Given the description of an element on the screen output the (x, y) to click on. 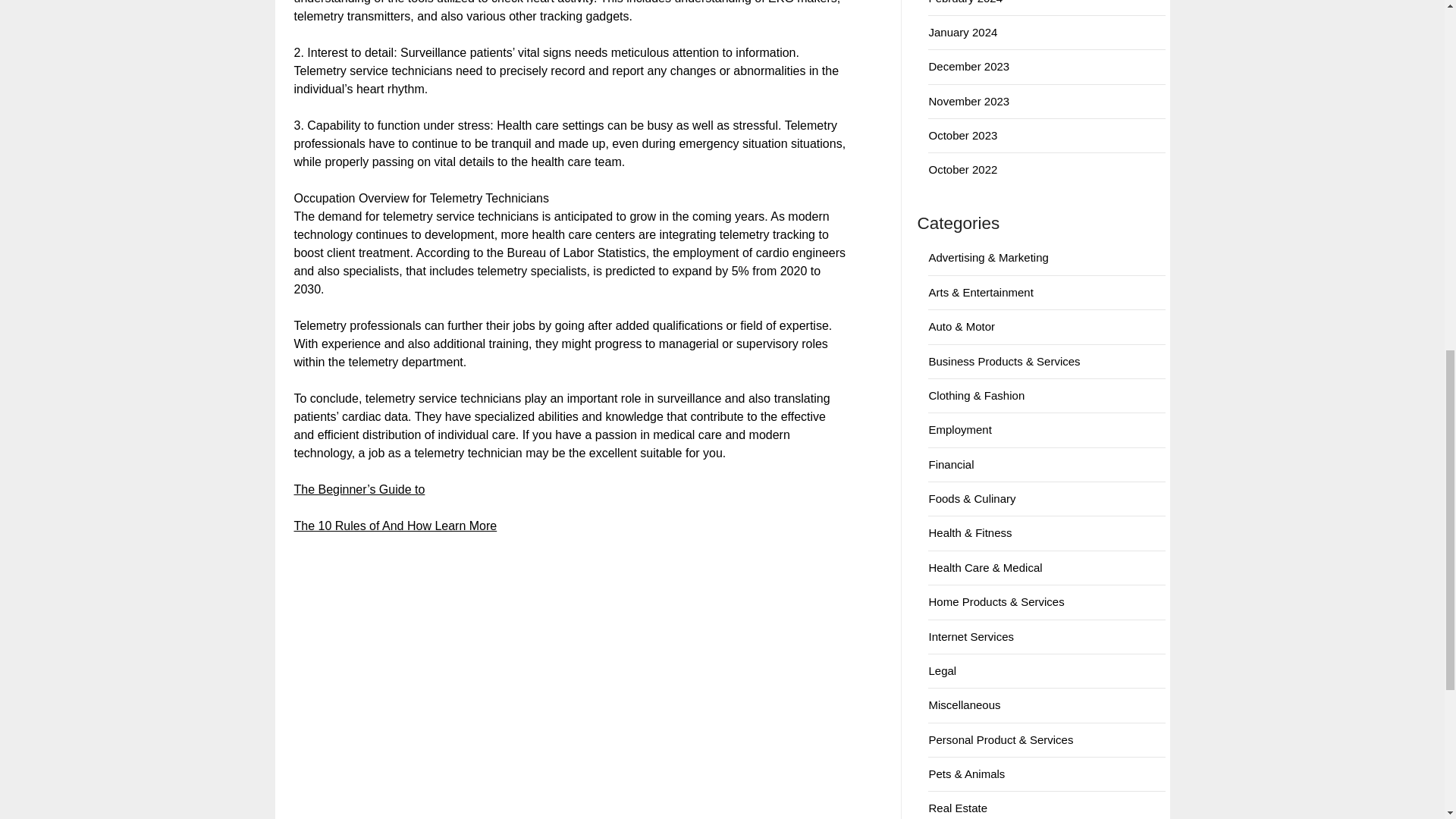
Financial (951, 463)
October 2023 (962, 134)
Legal (942, 670)
December 2023 (968, 65)
Internet Services (970, 635)
Employment (959, 429)
February 2024 (965, 2)
November 2023 (968, 101)
October 2022 (962, 169)
January 2024 (962, 31)
The 10 Rules of And How Learn More (395, 525)
